Given the description of an element on the screen output the (x, y) to click on. 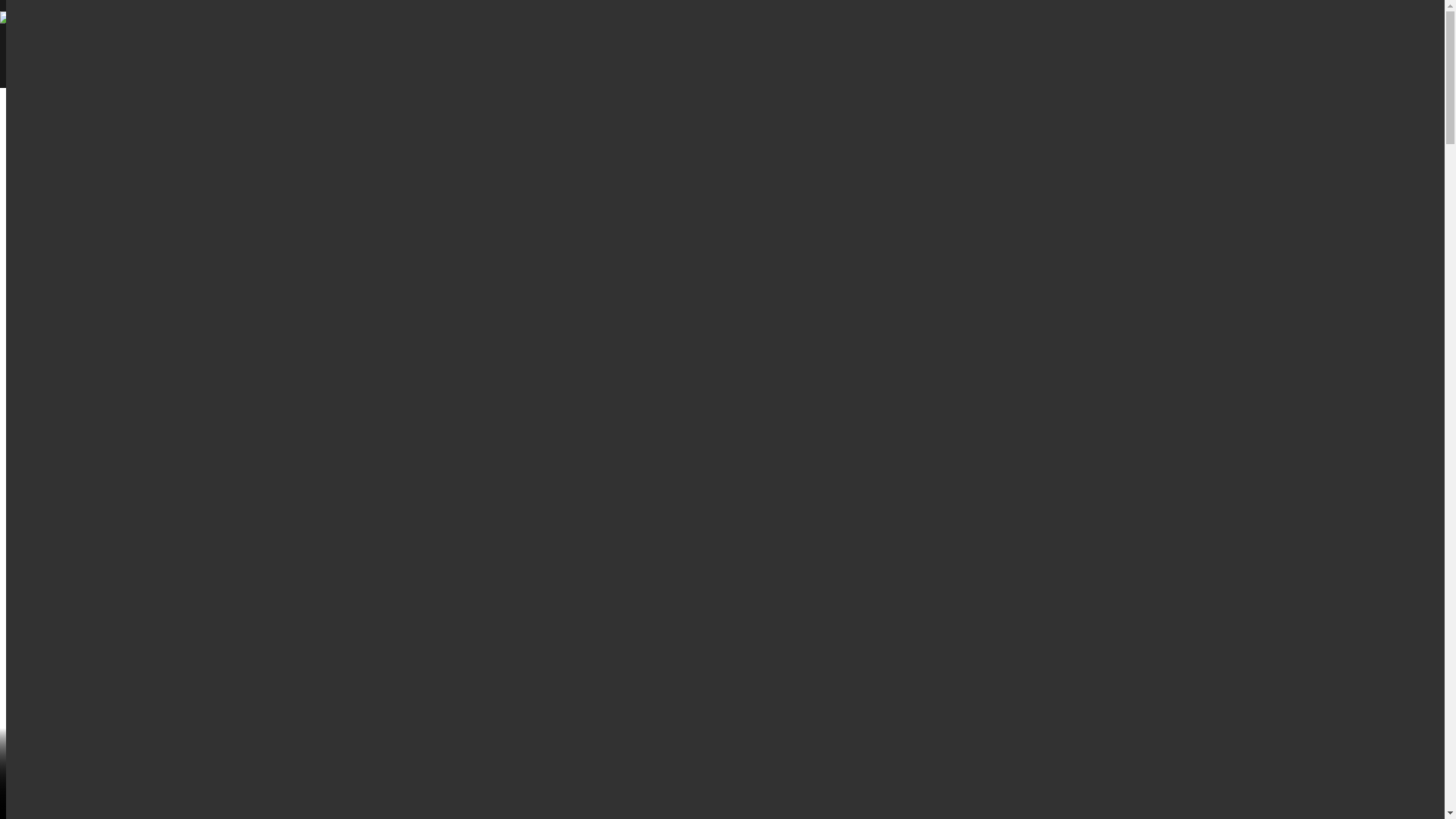
RU Element type: text (1264, 43)
NEWS Element type: text (757, 32)
ABOUT Element type: text (429, 32)
PORTFOLIO Element type: text (652, 32)
SERVICES Element type: text (533, 32)
FEEDBACK Element type: text (1202, 43)
CONTACTS Element type: text (860, 32)
